Given the description of an element on the screen output the (x, y) to click on. 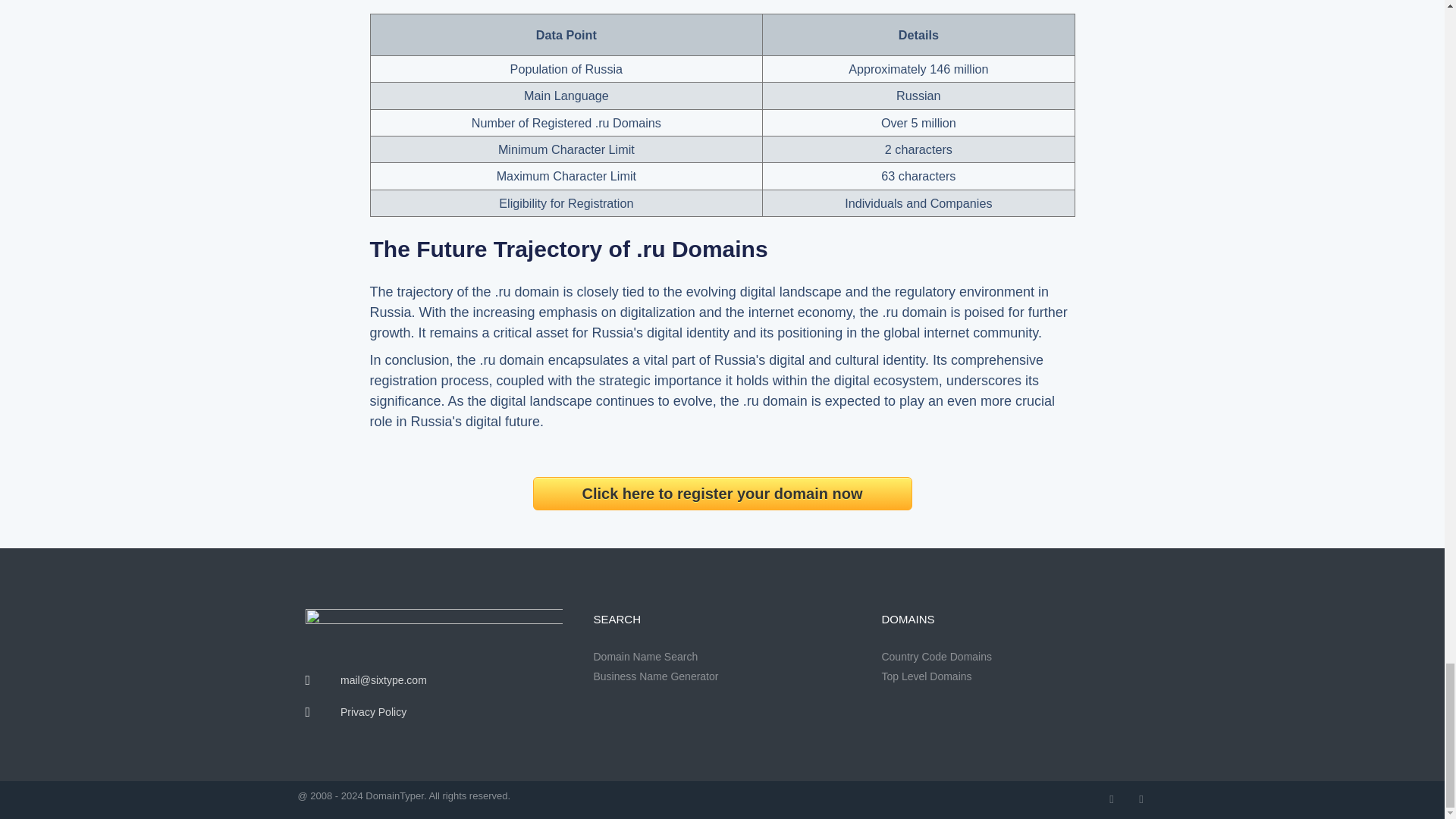
Country Code Domains (1009, 657)
Top Level Domains (1009, 676)
Click here to register your domain now (721, 493)
Business Name Generator (721, 676)
Privacy Policy (433, 712)
Domain Name Search (721, 657)
